Given the description of an element on the screen output the (x, y) to click on. 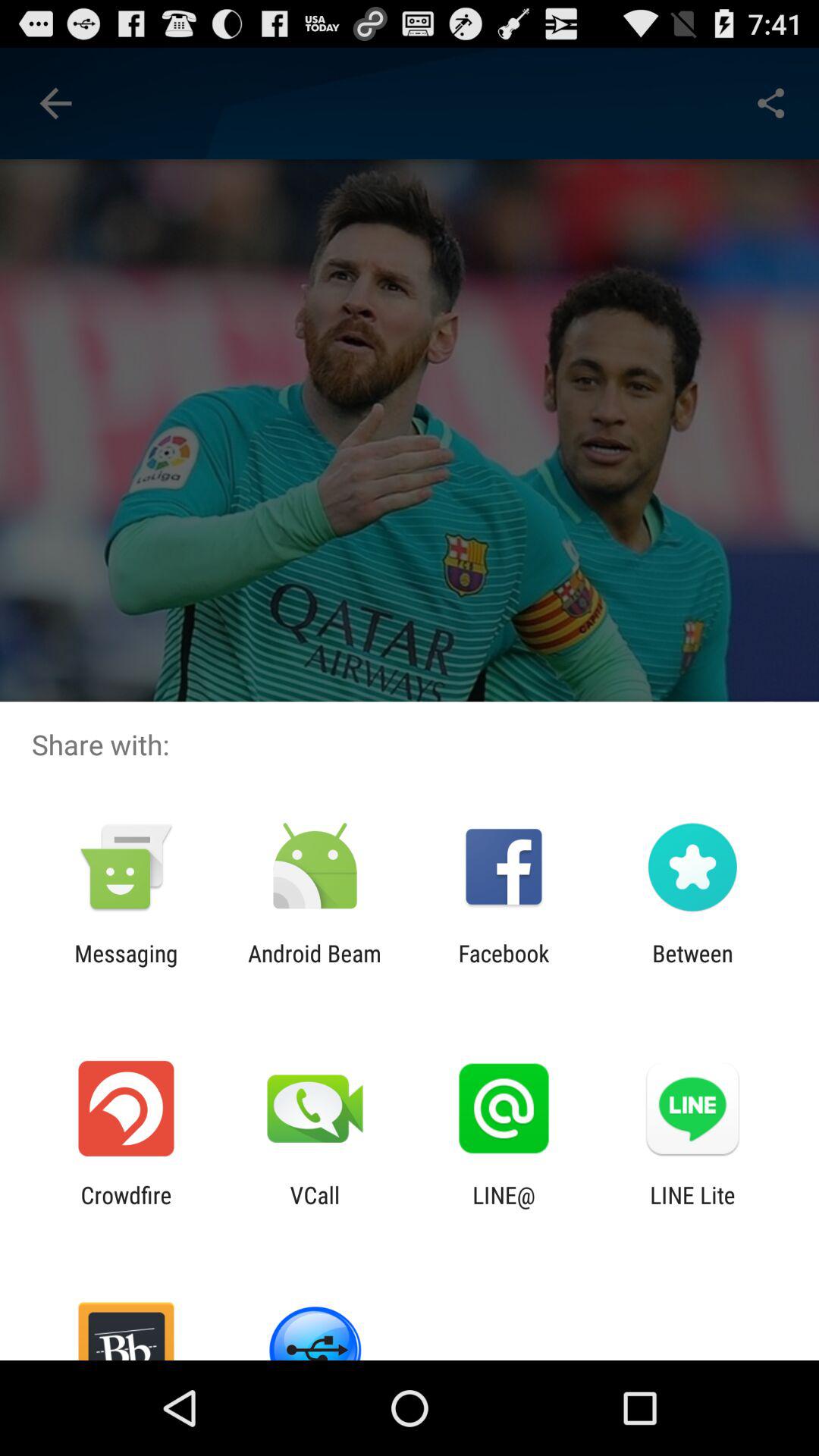
select icon to the left of line@ app (315, 1208)
